Given the description of an element on the screen output the (x, y) to click on. 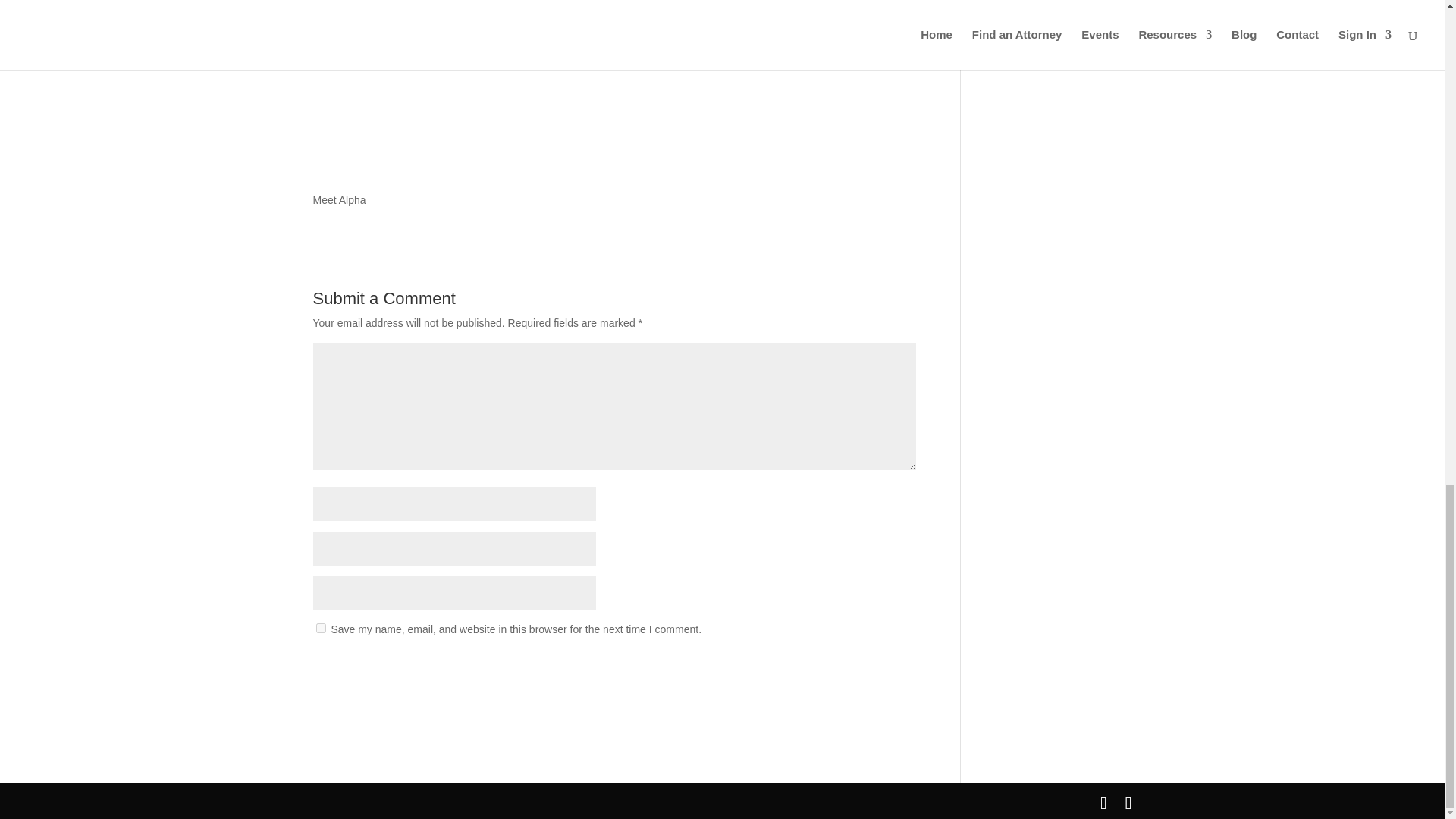
Submit Comment (840, 668)
Submit Comment (840, 668)
yes (319, 628)
